Given the description of an element on the screen output the (x, y) to click on. 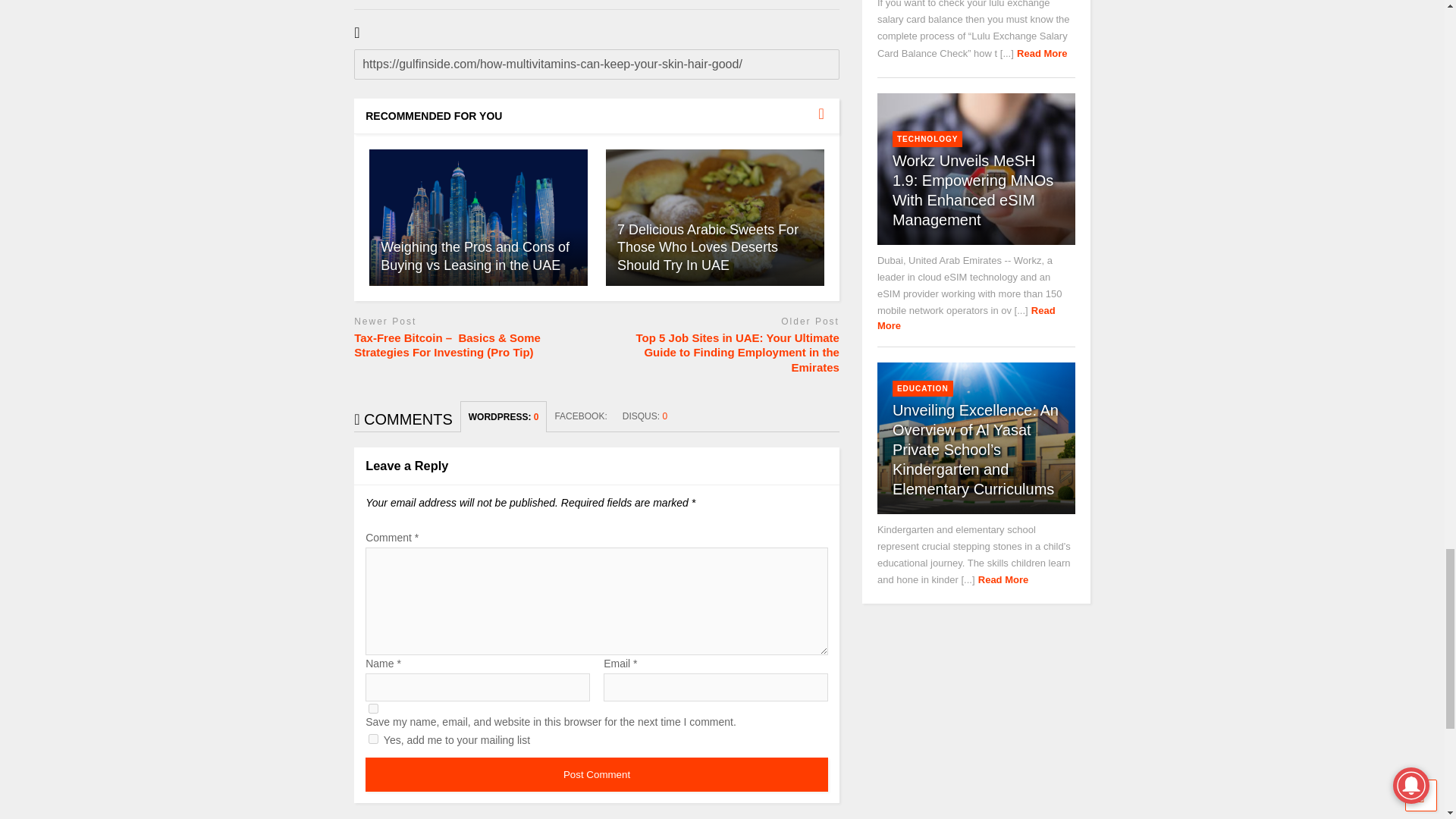
Post Comment (596, 774)
yes (373, 708)
1 (373, 738)
